Given the description of an element on the screen output the (x, y) to click on. 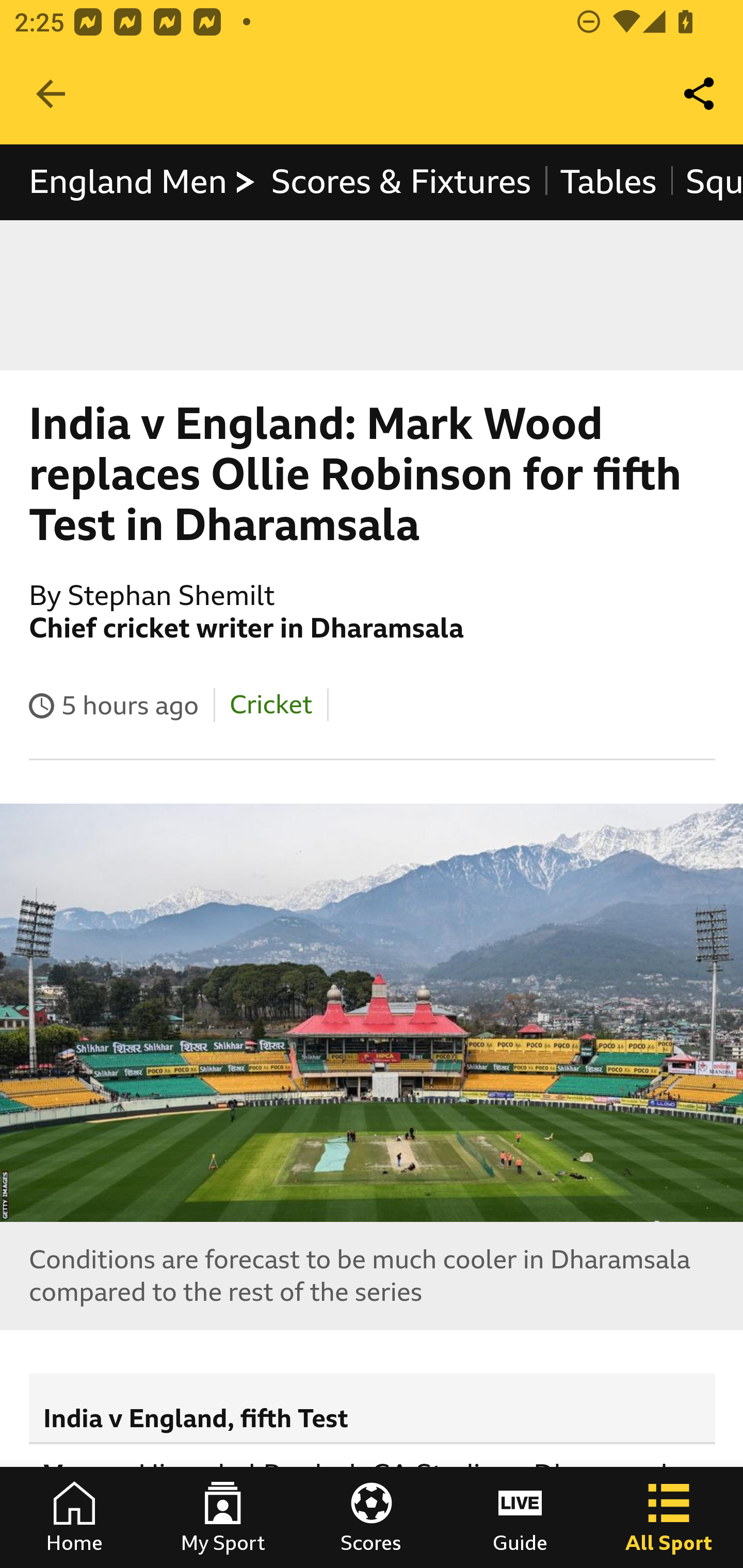
Navigate up (50, 93)
Share (699, 93)
England Men  (142, 181)
Scores & Fixtures (401, 181)
Tables (608, 181)
Cricket (270, 704)
Home (74, 1517)
My Sport (222, 1517)
Scores (371, 1517)
Guide (519, 1517)
